Given the description of an element on the screen output the (x, y) to click on. 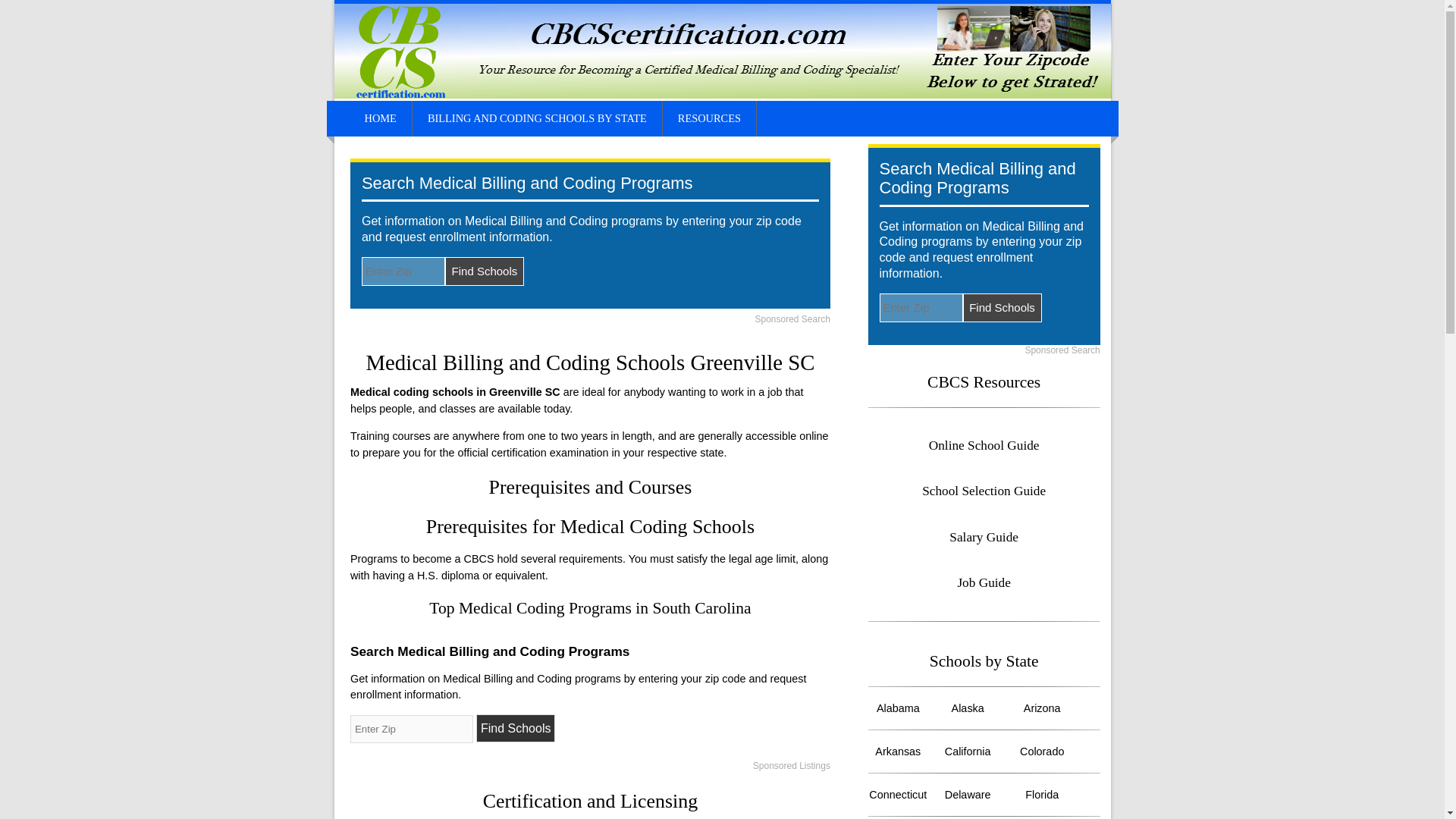
Find Schools (1002, 307)
Find Schools (484, 271)
BILLING AND CODING SCHOOLS BY STATE (537, 118)
HOME (380, 118)
Find Schools (516, 728)
